Given the description of an element on the screen output the (x, y) to click on. 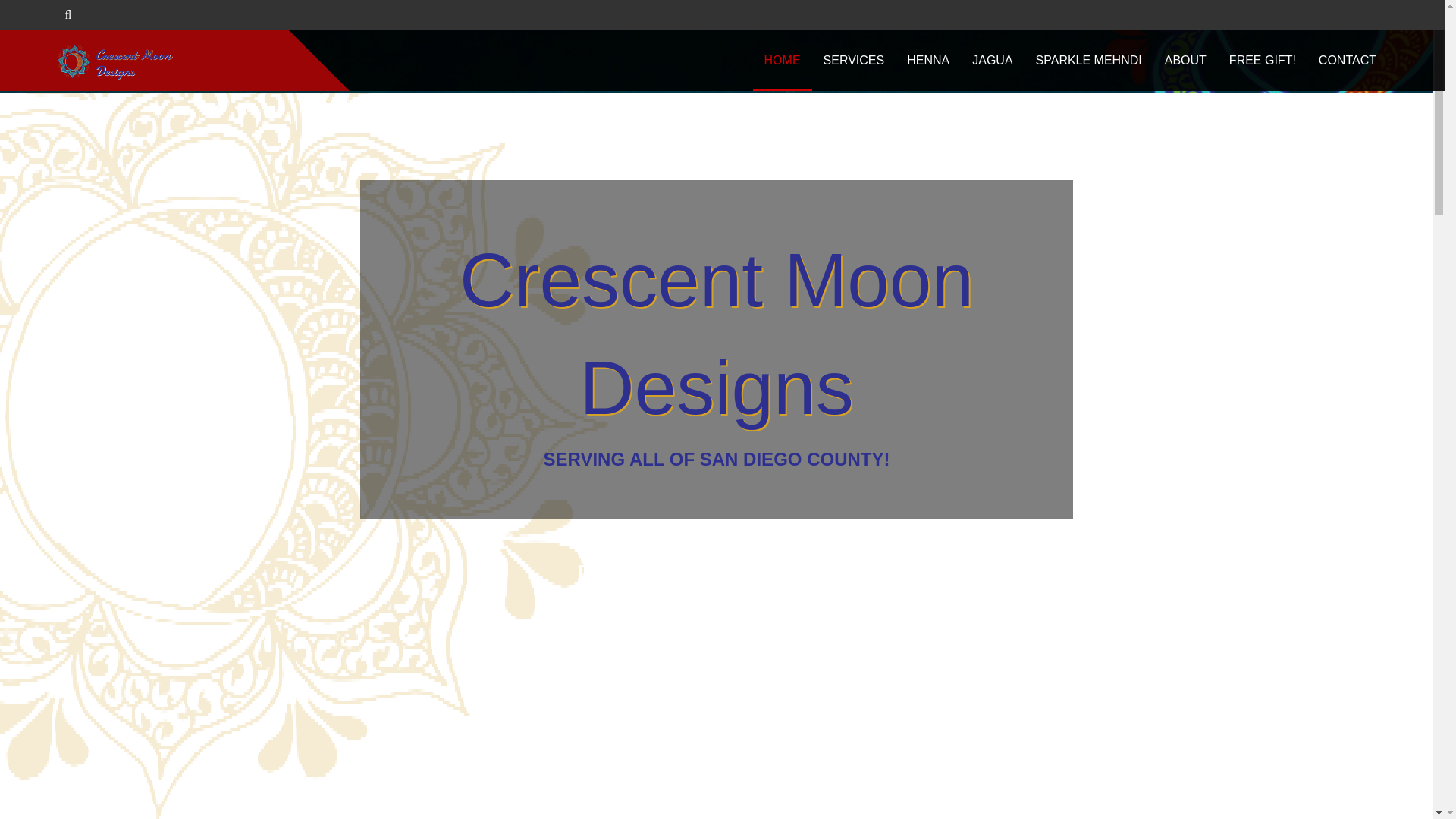
JAGUA (991, 60)
SPARKLE MEHNDI (1089, 60)
SERVICES (854, 60)
search (45, 15)
HOME (782, 60)
FREE GIFT! (1262, 60)
ABOUT (1185, 60)
CONTACT (1347, 60)
HENNA (927, 60)
